Given the description of an element on the screen output the (x, y) to click on. 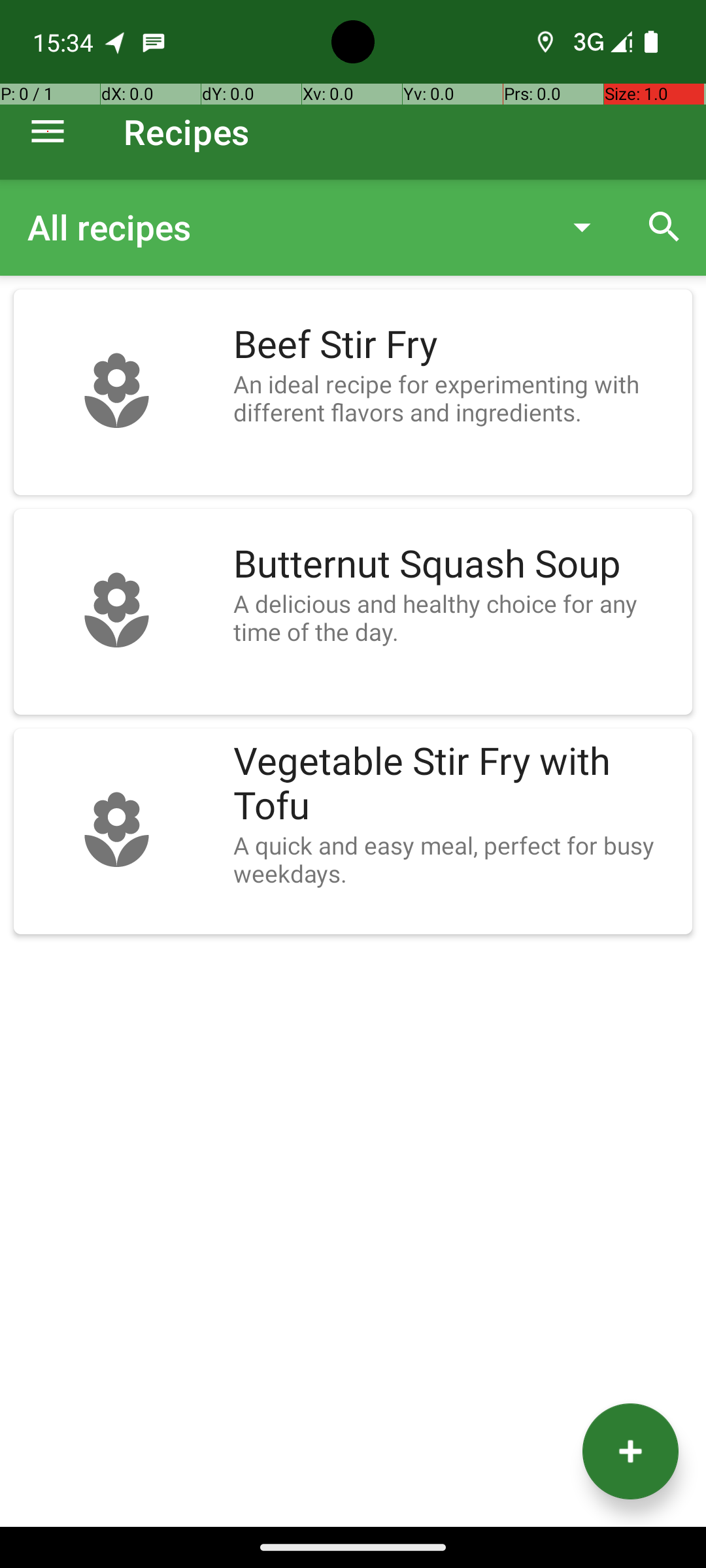
Vegetable Stir Fry with Tofu Element type: android.widget.TextView (455, 783)
SMS Messenger notification: Noa Mohamed Element type: android.widget.ImageView (153, 41)
